Given the description of an element on the screen output the (x, y) to click on. 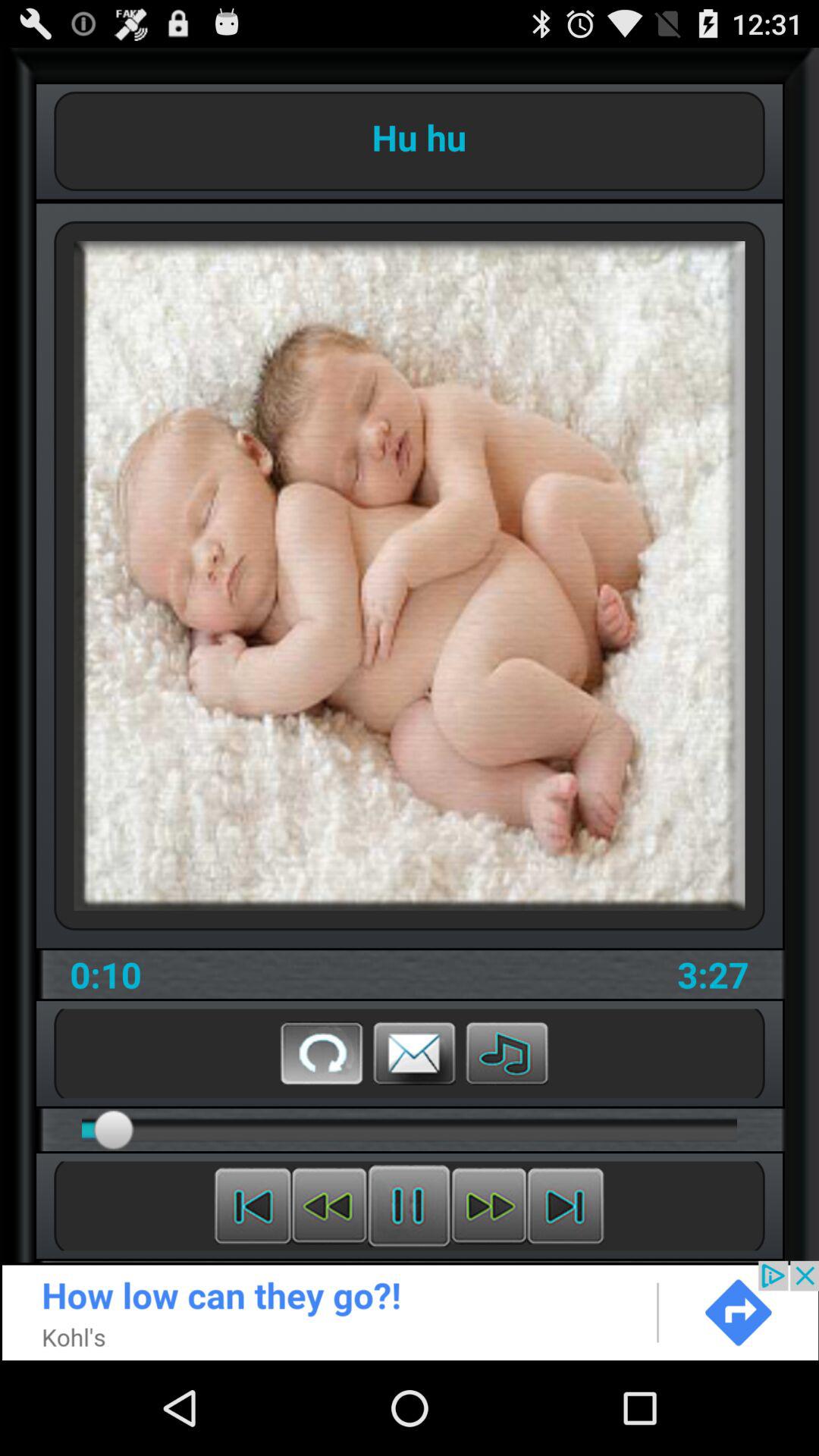
share the photo (414, 1053)
